Given the description of an element on the screen output the (x, y) to click on. 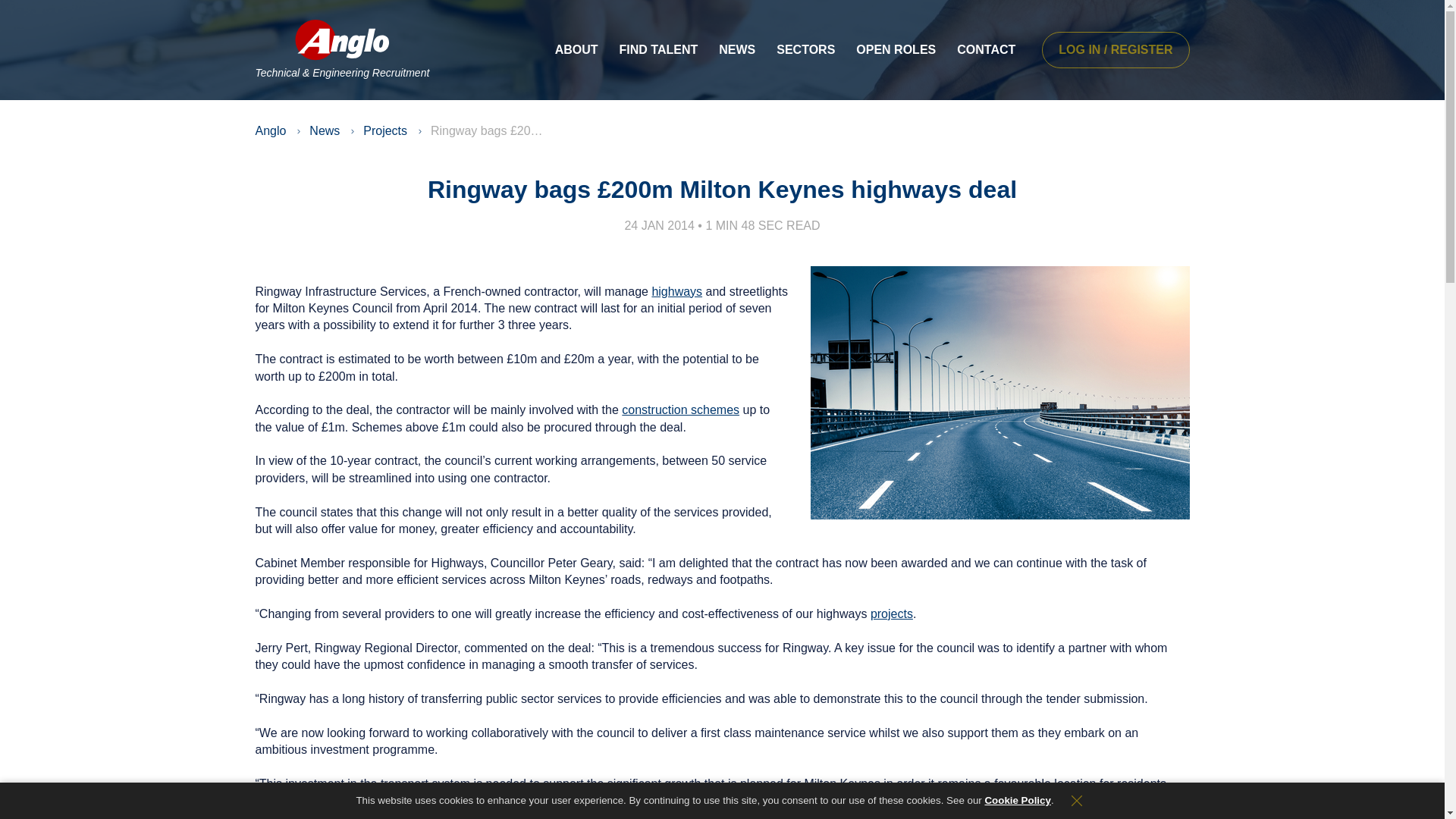
highways (675, 291)
construction schemes (680, 409)
NEWS (736, 49)
OPEN ROLES (895, 49)
Projects (384, 130)
CONTACT (986, 49)
projects (891, 613)
News (323, 130)
ABOUT (576, 49)
SECTORS (805, 49)
Anglo (269, 130)
